Given the description of an element on the screen output the (x, y) to click on. 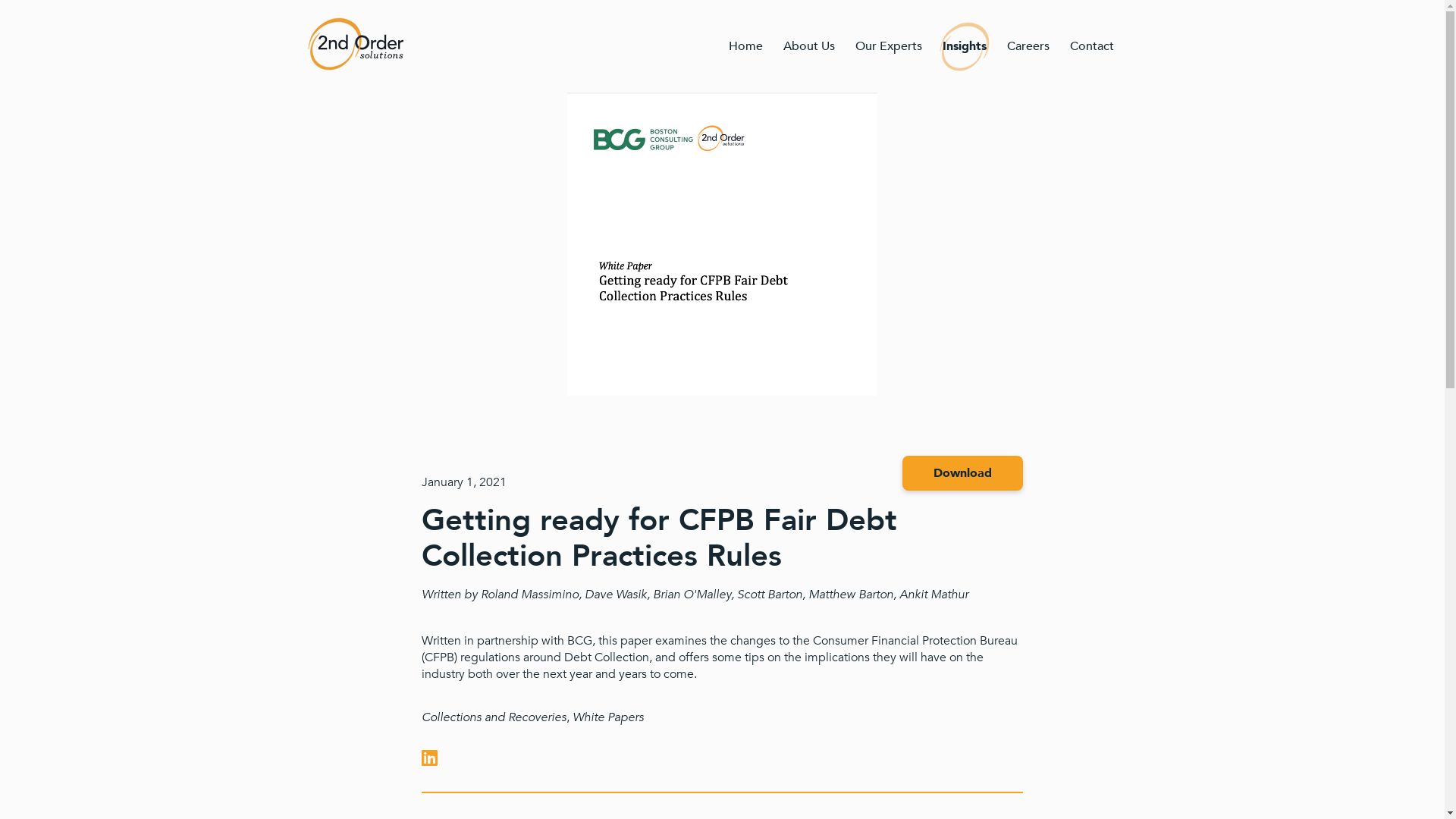
Insights Element type: text (964, 46)
Getting ready for CFPB Fair Debt Collection Practices Rules Element type: text (659, 538)
Our Experts Element type: text (888, 46)
About Us Element type: text (809, 46)
Collections and Recoveries Element type: text (493, 717)
Careers Element type: text (1028, 46)
Download Element type: text (962, 472)
White Papers Element type: text (607, 717)
Home Element type: text (745, 46)
Contact Element type: text (1092, 46)
